Given the description of an element on the screen output the (x, y) to click on. 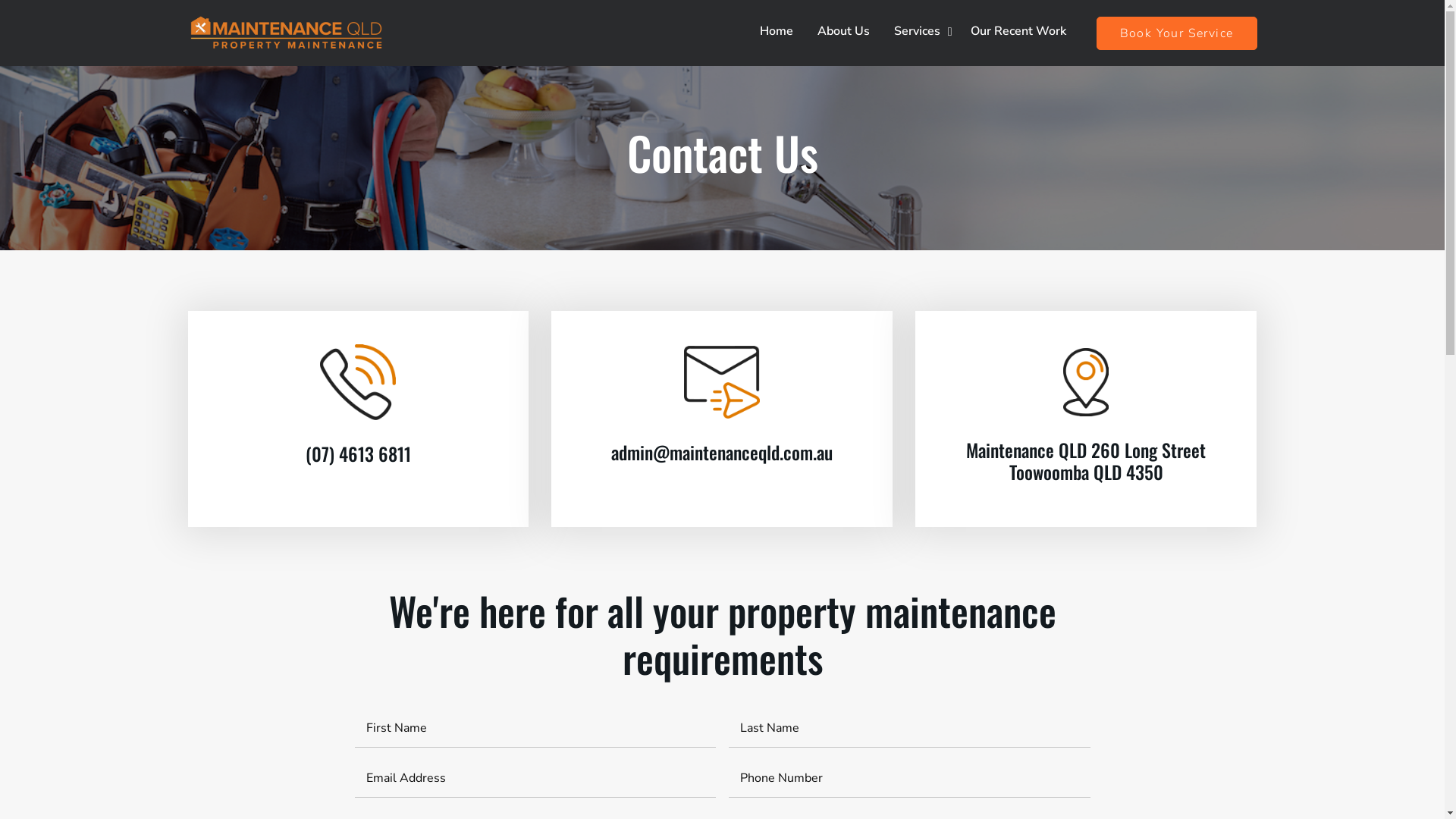
Book Your Service Element type: text (1176, 33)
(07) 4613 6811 Element type: text (358, 453)
Maintenance QLD 260 Long Street Toowoomba QLD 4350 Element type: text (1085, 460)
Services Element type: text (919, 30)
Our Recent Work Element type: text (1018, 30)
About Us Element type: text (843, 30)
Home Element type: text (776, 30)
